Given the description of an element on the screen output the (x, y) to click on. 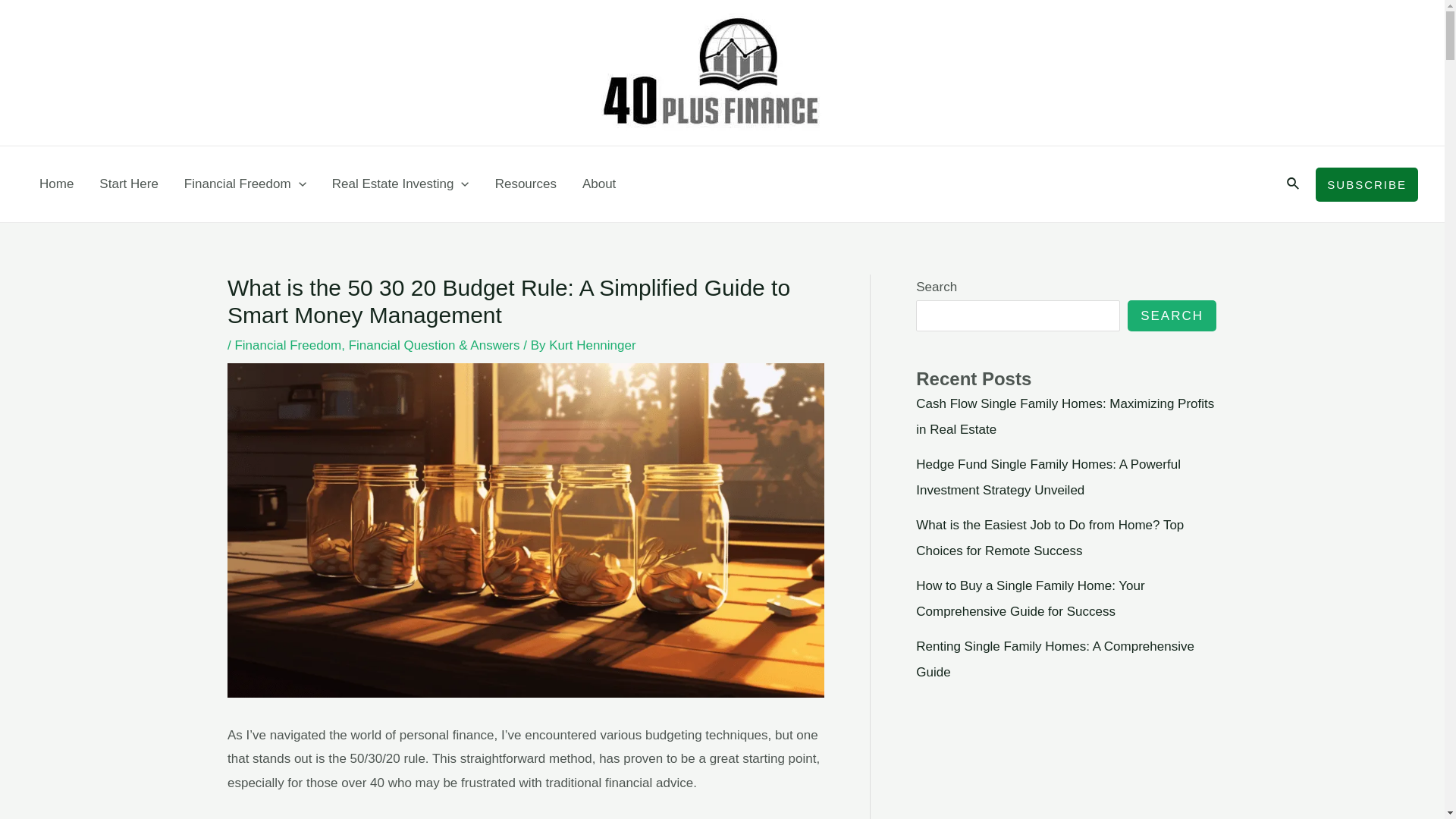
SEARCH Element type: text (1171, 315)
Renting Single Family Homes: A Comprehensive Guide Element type: text (1055, 659)
Financial Question & Answers Element type: text (434, 345)
Financial Freedom Element type: text (245, 184)
Real Estate Investing Element type: text (400, 184)
Kurt Henninger Element type: text (592, 345)
Start Here Element type: text (128, 184)
Financial Freedom Element type: text (287, 345)
Resources Element type: text (525, 184)
About Element type: text (598, 184)
Search Element type: text (1293, 184)
Home Element type: text (56, 184)
SUBSCRIBE Element type: text (1366, 183)
